Given the description of an element on the screen output the (x, y) to click on. 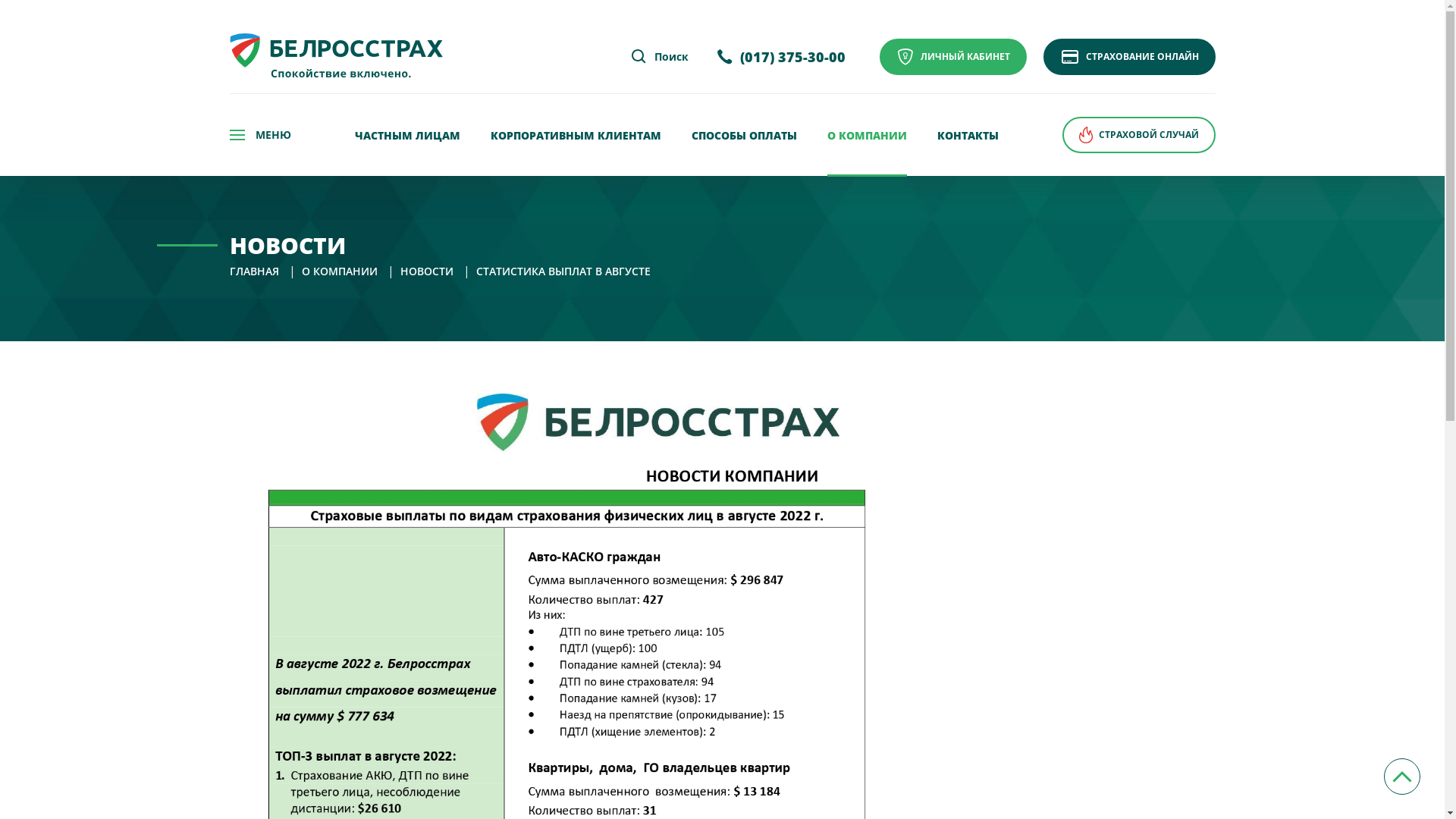
(017) 375-30-00 Element type: text (780, 56)
